Given the description of an element on the screen output the (x, y) to click on. 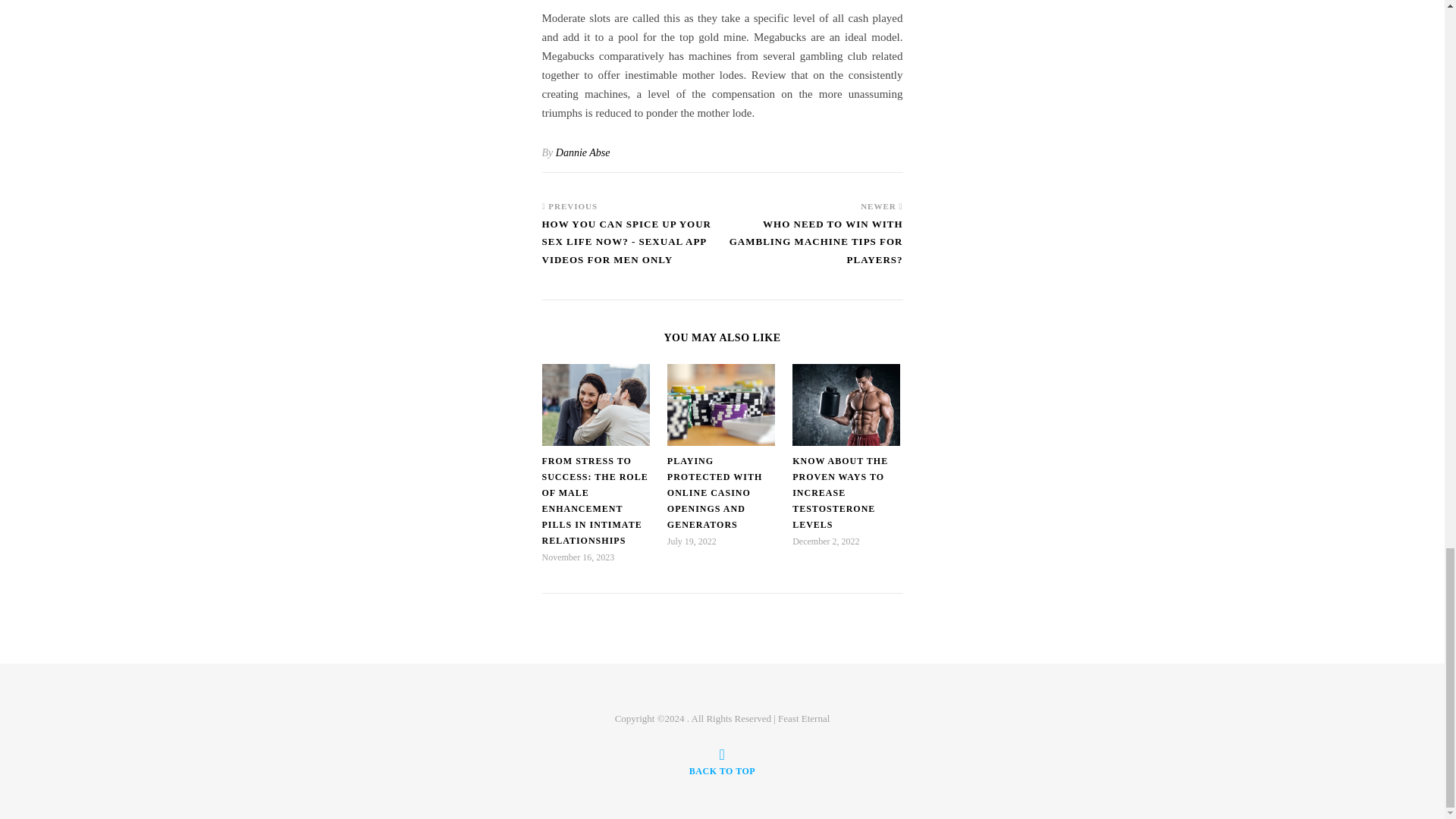
Who Need To Win with Gambling Machine Tips for Players? (812, 248)
Dannie Abse (583, 152)
Posts by Dannie Abse (583, 152)
WHO NEED TO WIN WITH GAMBLING MACHINE TIPS FOR PLAYERS? (812, 248)
BACK TO TOP (722, 761)
KNOW ABOUT THE PROVEN WAYS TO INCREASE TESTOSTERONE LEVELS (840, 492)
PLAYING PROTECTED WITH ONLINE CASINO OPENINGS AND GENERATORS (713, 492)
